Given the description of an element on the screen output the (x, y) to click on. 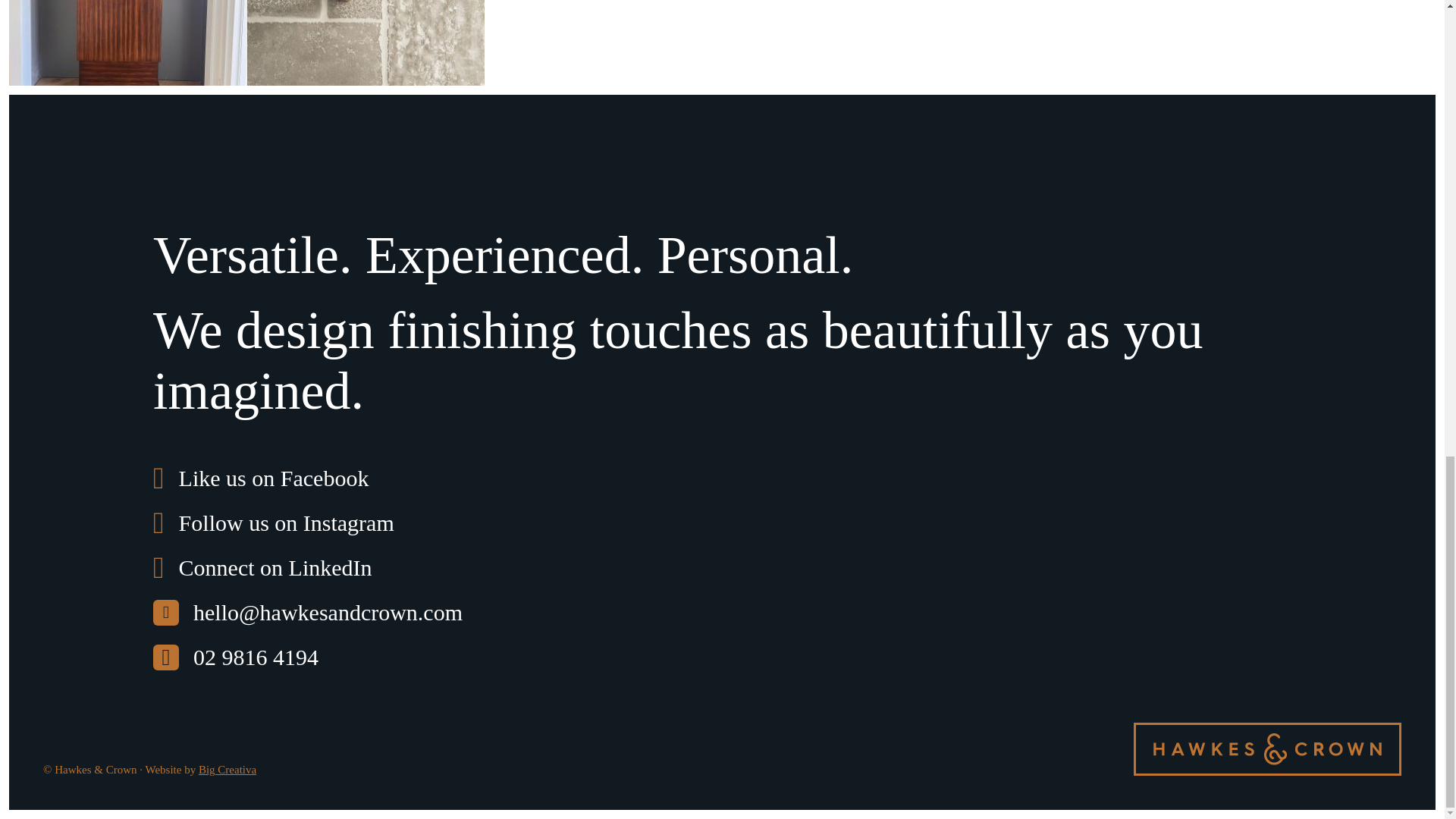
Follow us on Instagram (273, 520)
Big Creativa (227, 769)
02 9816 4194 (235, 655)
Connect on LinkedIn (262, 565)
Like us on Facebook (260, 475)
